Given the description of an element on the screen output the (x, y) to click on. 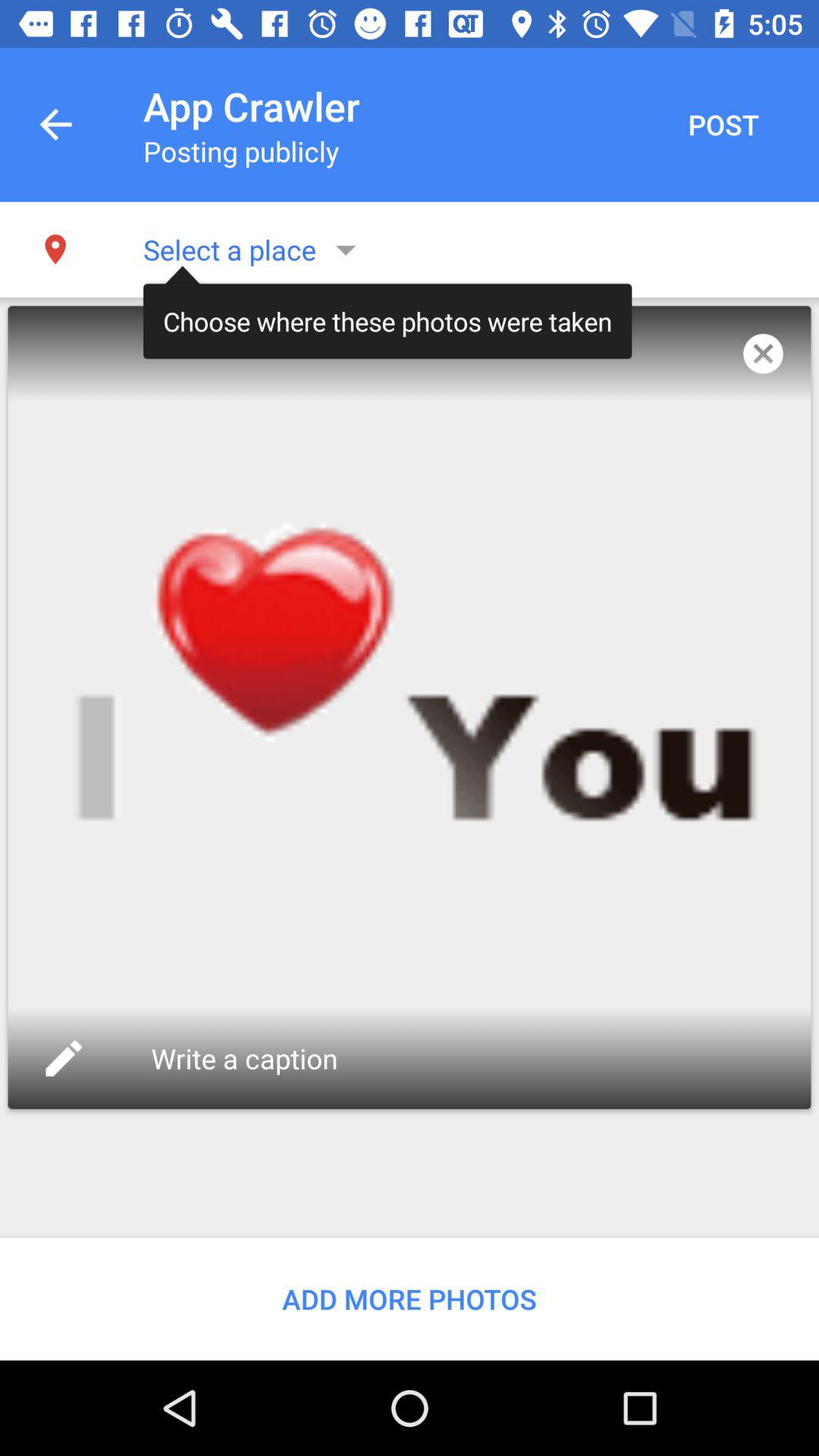
click on icon on the left side of select a place (55, 249)
click on icon on the left side of write a caption (63, 1057)
click on the close icon in the top right corner of the web page (763, 353)
click the button on the top left corner of the web page (56, 124)
select write a caption (248, 1058)
click on location icon beside select a place (55, 249)
